Given the description of an element on the screen output the (x, y) to click on. 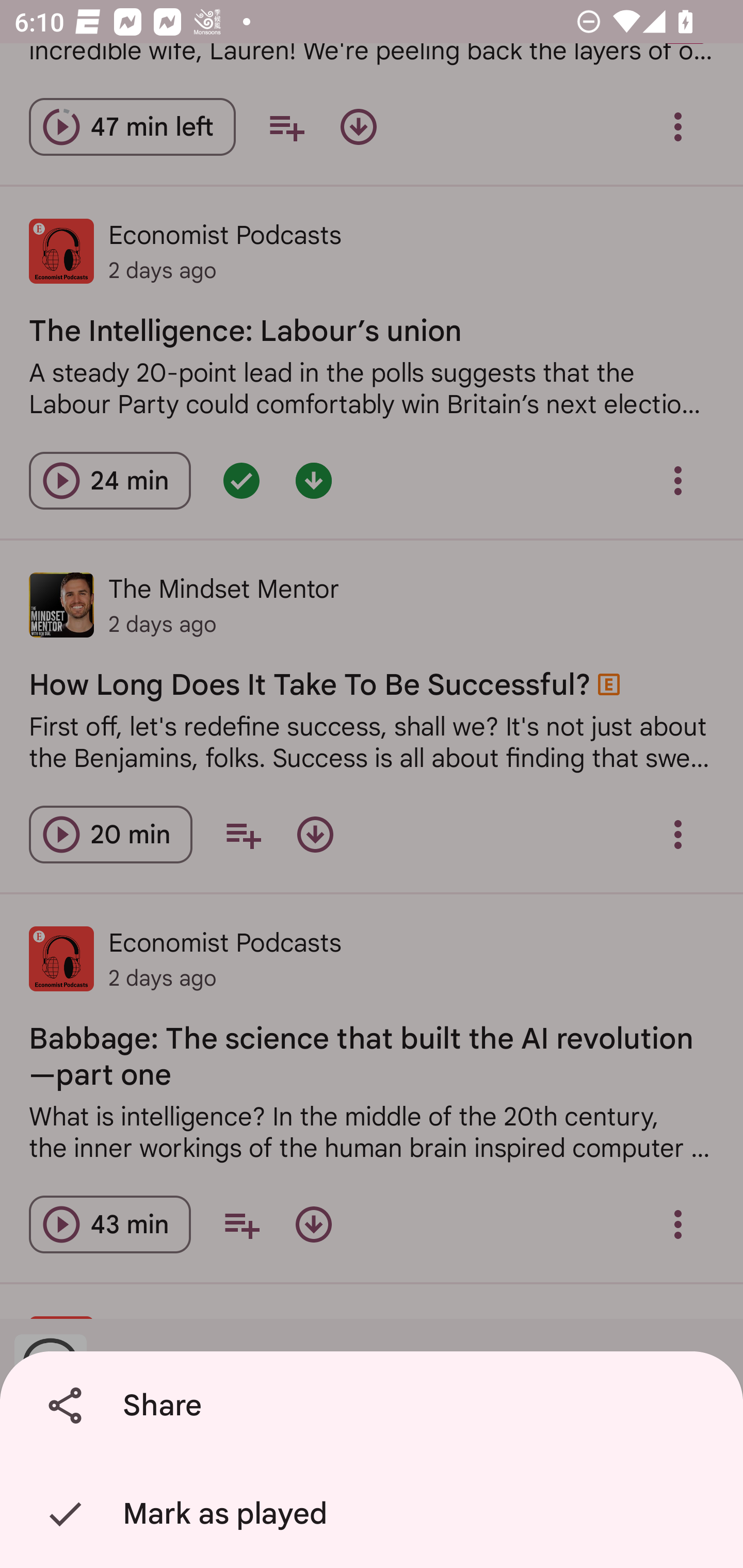
Share (375, 1405)
Mark as played (375, 1513)
